Given the description of an element on the screen output the (x, y) to click on. 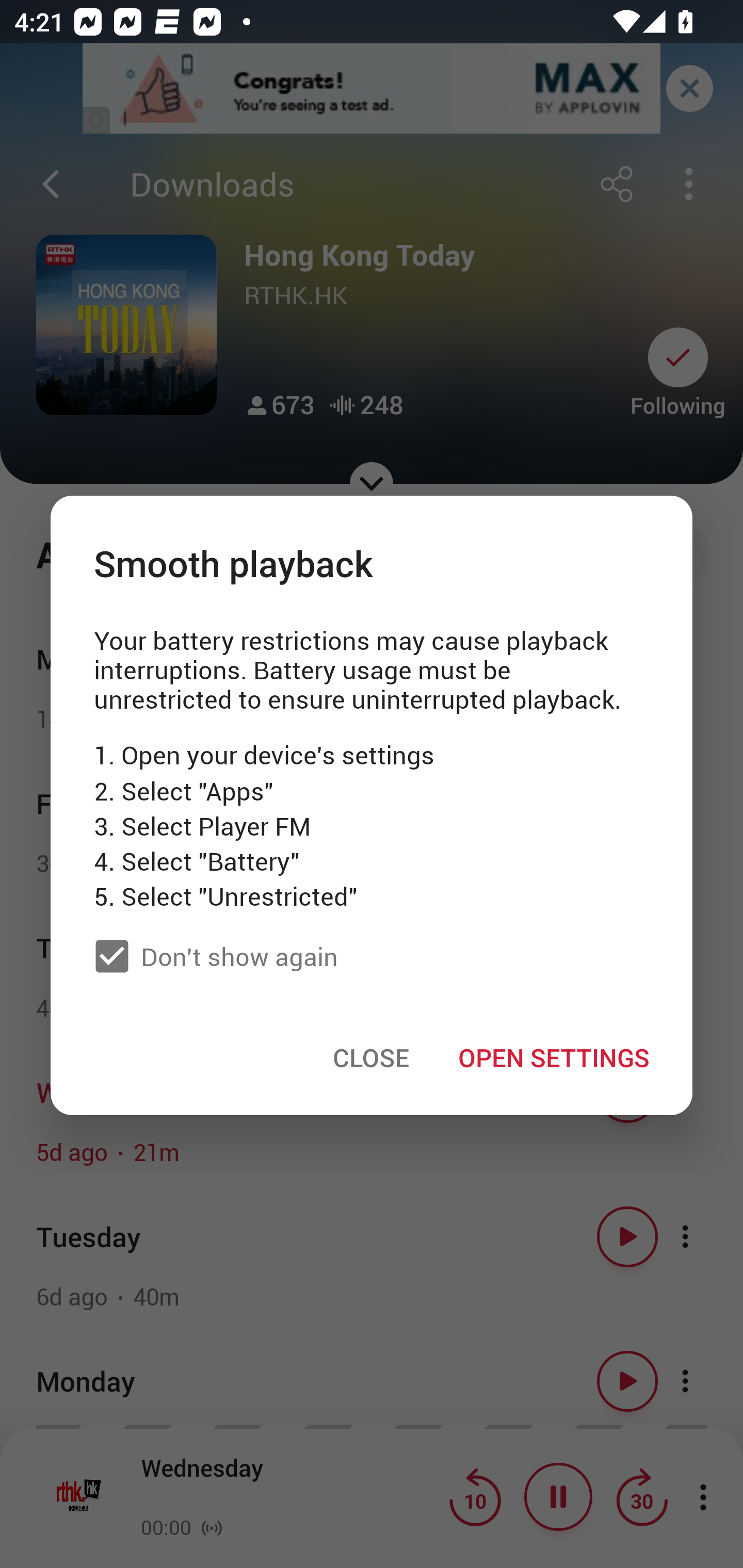
Don't show again (210, 955)
CLOSE (371, 1057)
OPEN SETTINGS (553, 1057)
